Given the description of an element on the screen output the (x, y) to click on. 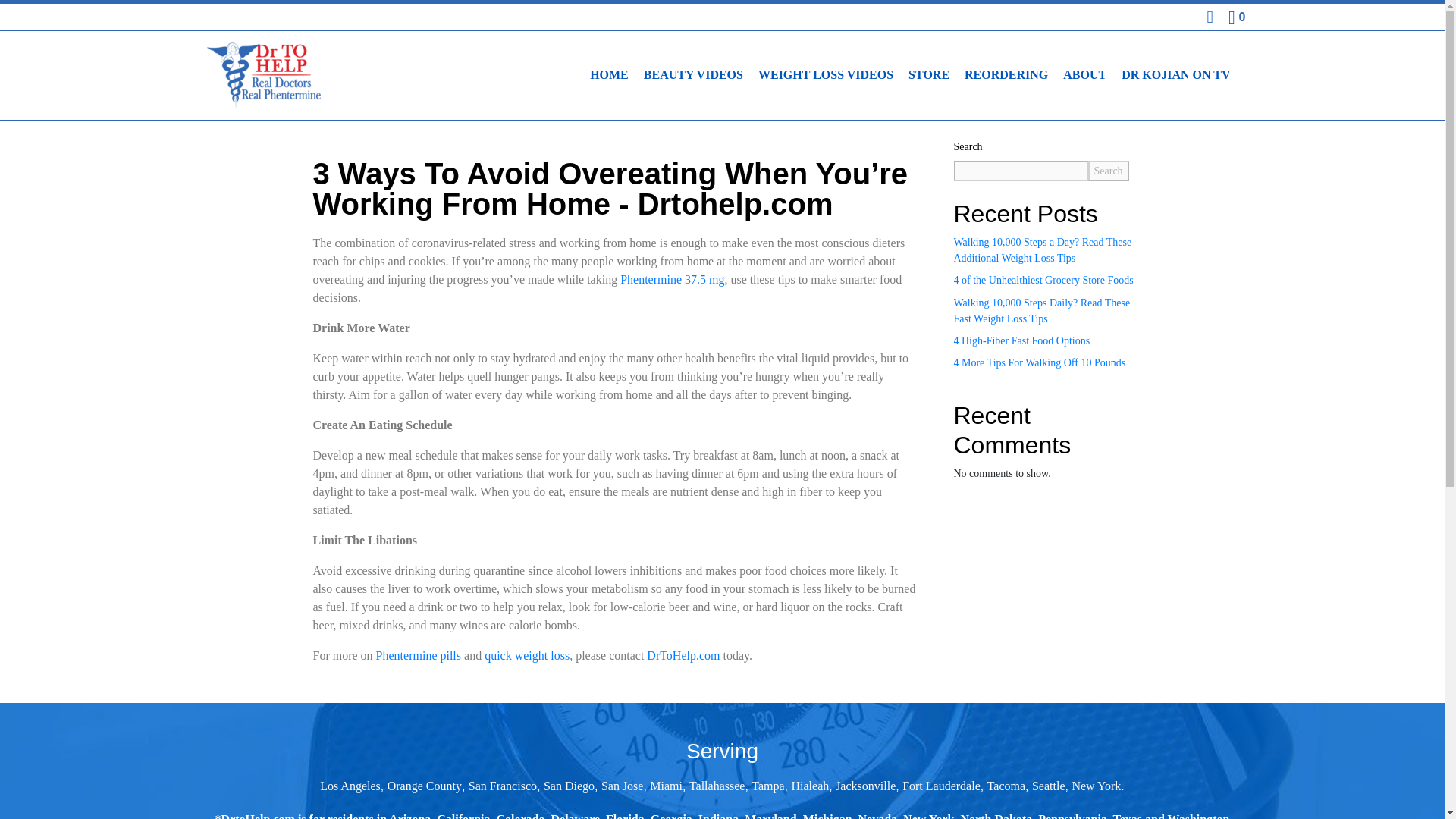
Fast Weight Loss in San Diego (568, 785)
San Diego (568, 785)
HOME (609, 74)
Phentermine Weight Loss in Fort Lauderdale (940, 785)
Weight Loss Pills Seattle (1048, 785)
Phentermine Weight Loss Jacksonville (865, 785)
ABOUT (1084, 74)
STORE (928, 74)
Walking 10,000 Steps Daily? Read These Fast Weight Loss Tips (1042, 310)
Phentermine pills (418, 655)
DR KOJIAN ON TV (1175, 74)
Fast Weight Loss Solutions for Orange County Residents (424, 785)
Search (1107, 170)
0 (1236, 17)
